Given the description of an element on the screen output the (x, y) to click on. 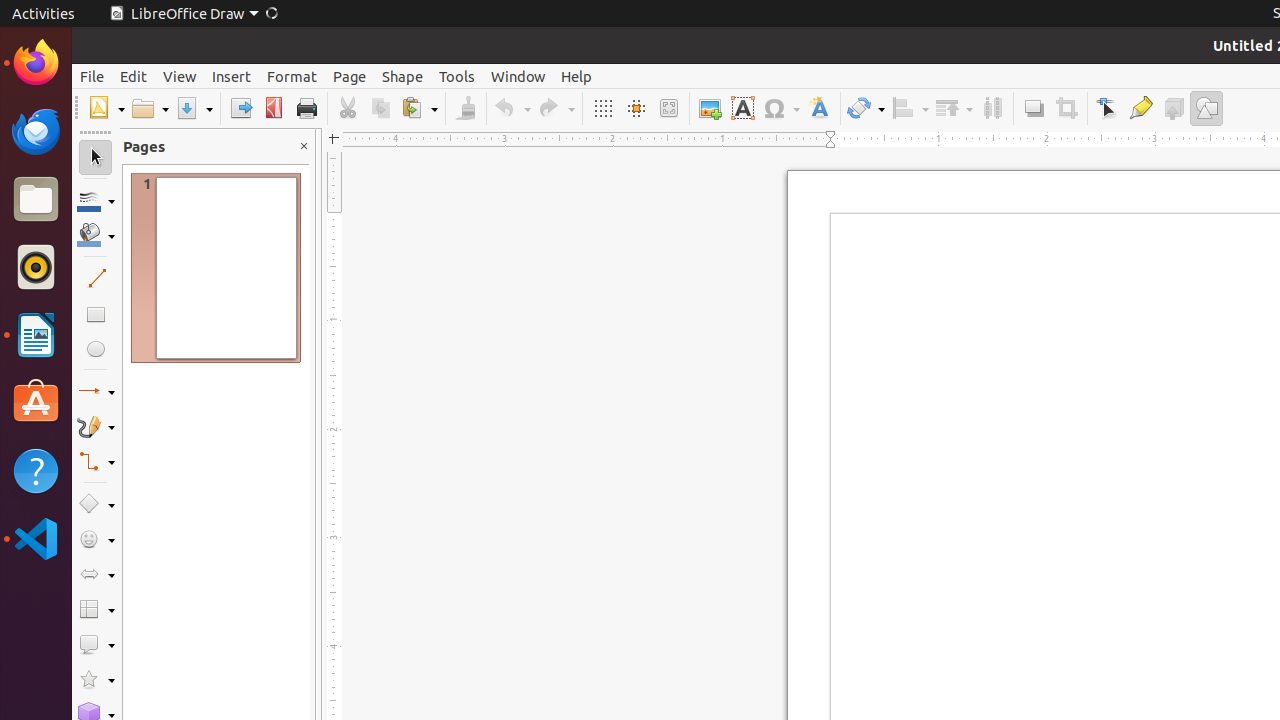
File Element type: menu (92, 76)
Undo Element type: push-button (512, 108)
New Element type: push-button (106, 108)
Redo Element type: push-button (556, 108)
Callout Shapes Element type: push-button (96, 644)
